Given the description of an element on the screen output the (x, y) to click on. 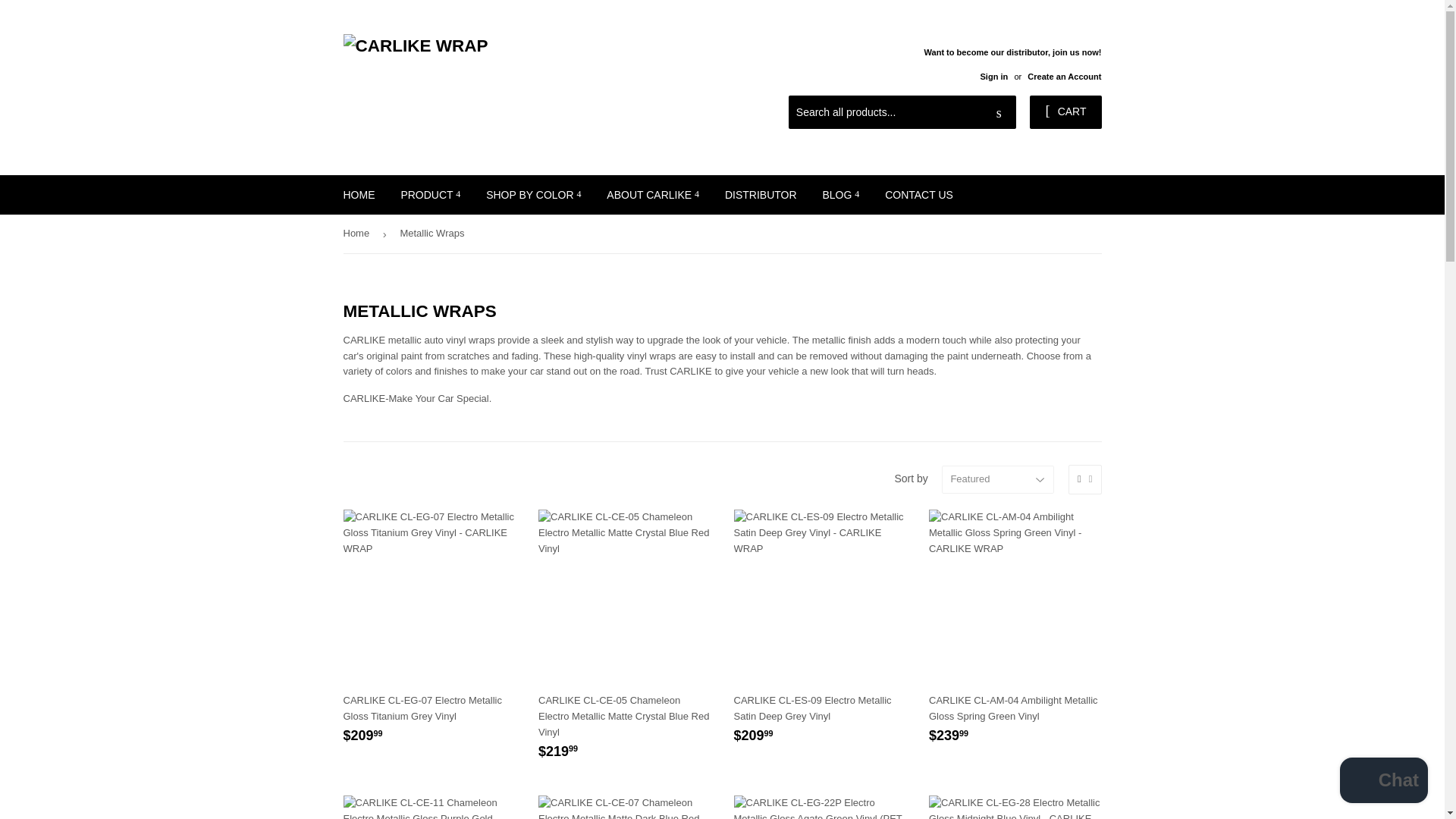
Sign in (993, 76)
Shopify online store chat (1383, 781)
Create an Account (1063, 76)
CART (1064, 111)
Search (998, 112)
Want to become our distributor, join us now! (1011, 63)
